Given the description of an element on the screen output the (x, y) to click on. 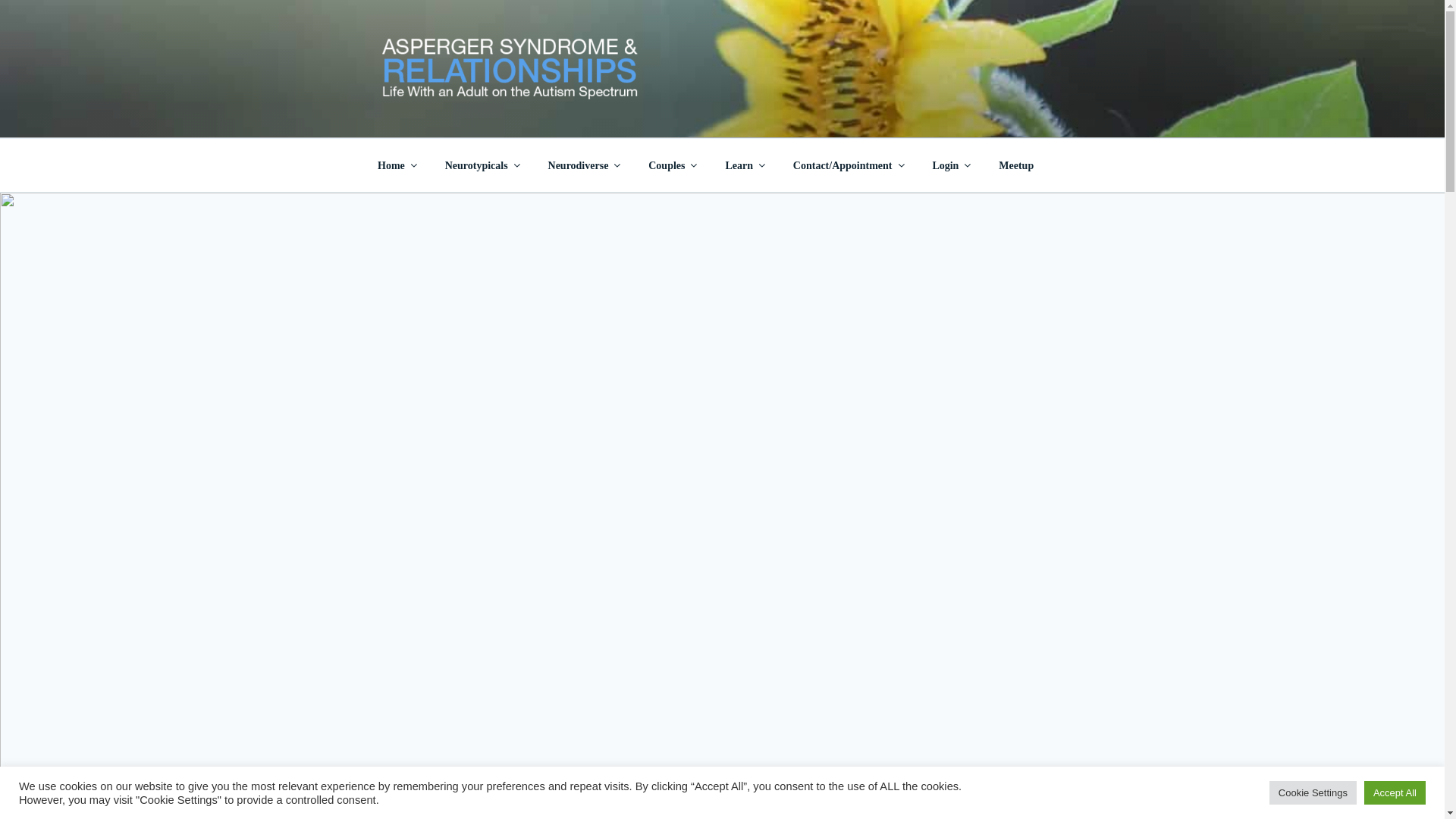
Learn (744, 165)
Neurodiverse (582, 165)
Home (396, 165)
ASPERGER SYNDROME AND RELATIONSHIPS (684, 113)
Couples (671, 165)
Neurotypicals (480, 165)
